Given the description of an element on the screen output the (x, y) to click on. 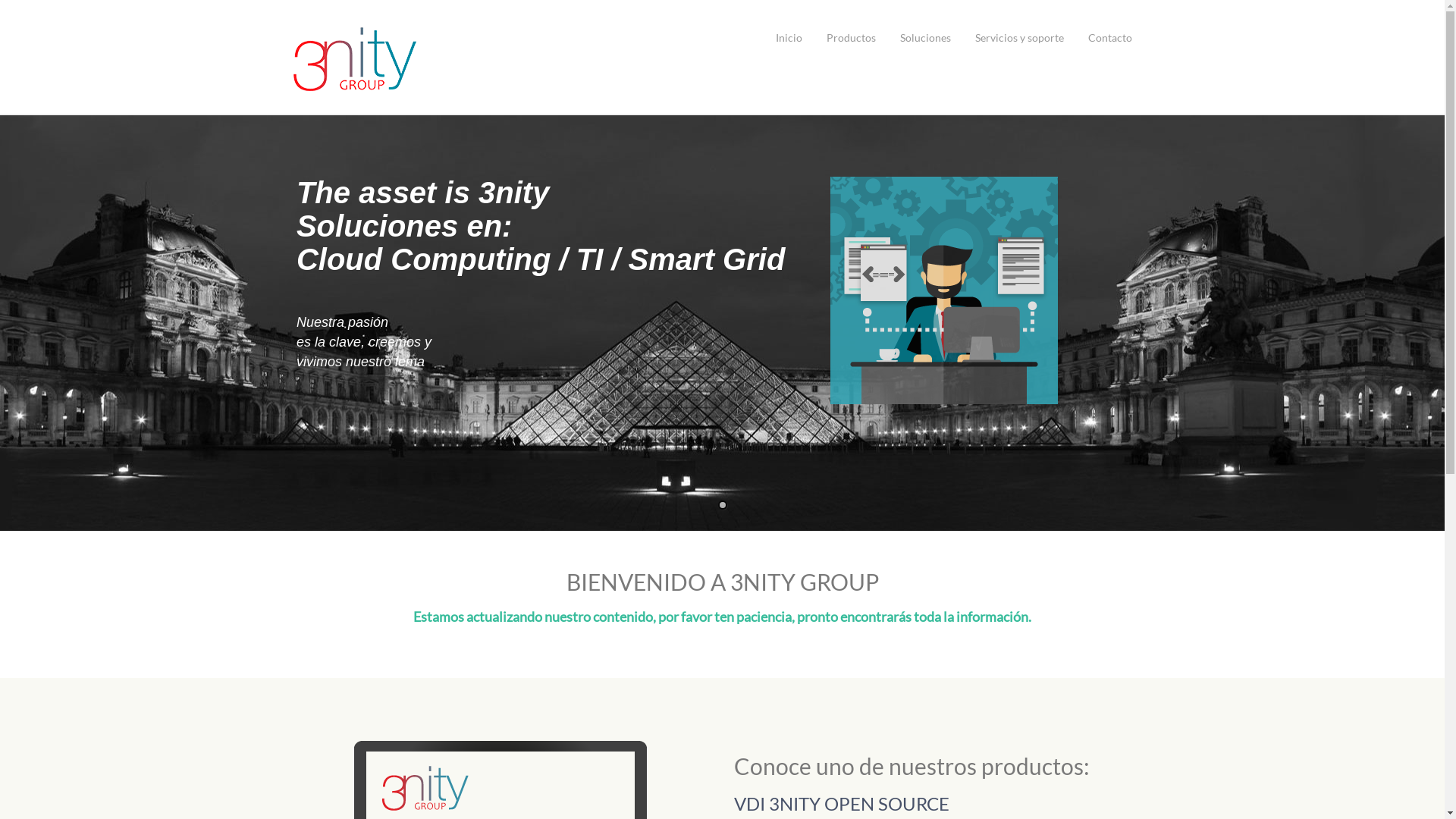
Inicio Element type: text (788, 37)
Soluciones Element type: text (925, 37)
Servicios y soporte Element type: text (1018, 37)
Productos Element type: text (850, 37)
Contacto Element type: text (1109, 37)
